Given the description of an element on the screen output the (x, y) to click on. 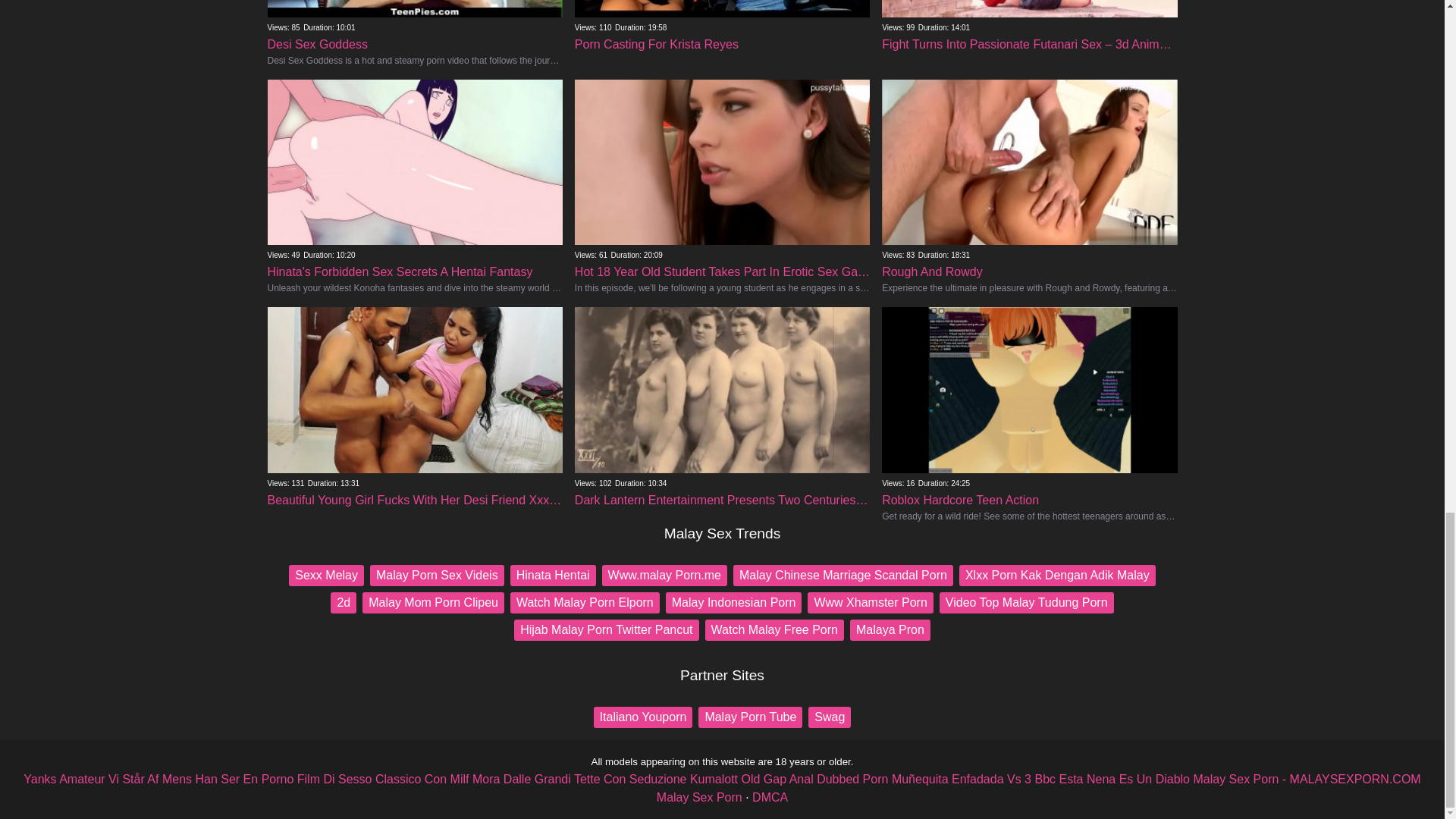
Desi Sex Goddess (414, 33)
Hinata Hentai (553, 575)
Sexx Melay (326, 575)
Malaya Pron (890, 629)
2d (343, 602)
Www Xhamster Porn (722, 27)
Watch Malay Porn Elporn (870, 602)
Porn Casting For Krista Reyes (585, 602)
